Given the description of an element on the screen output the (x, y) to click on. 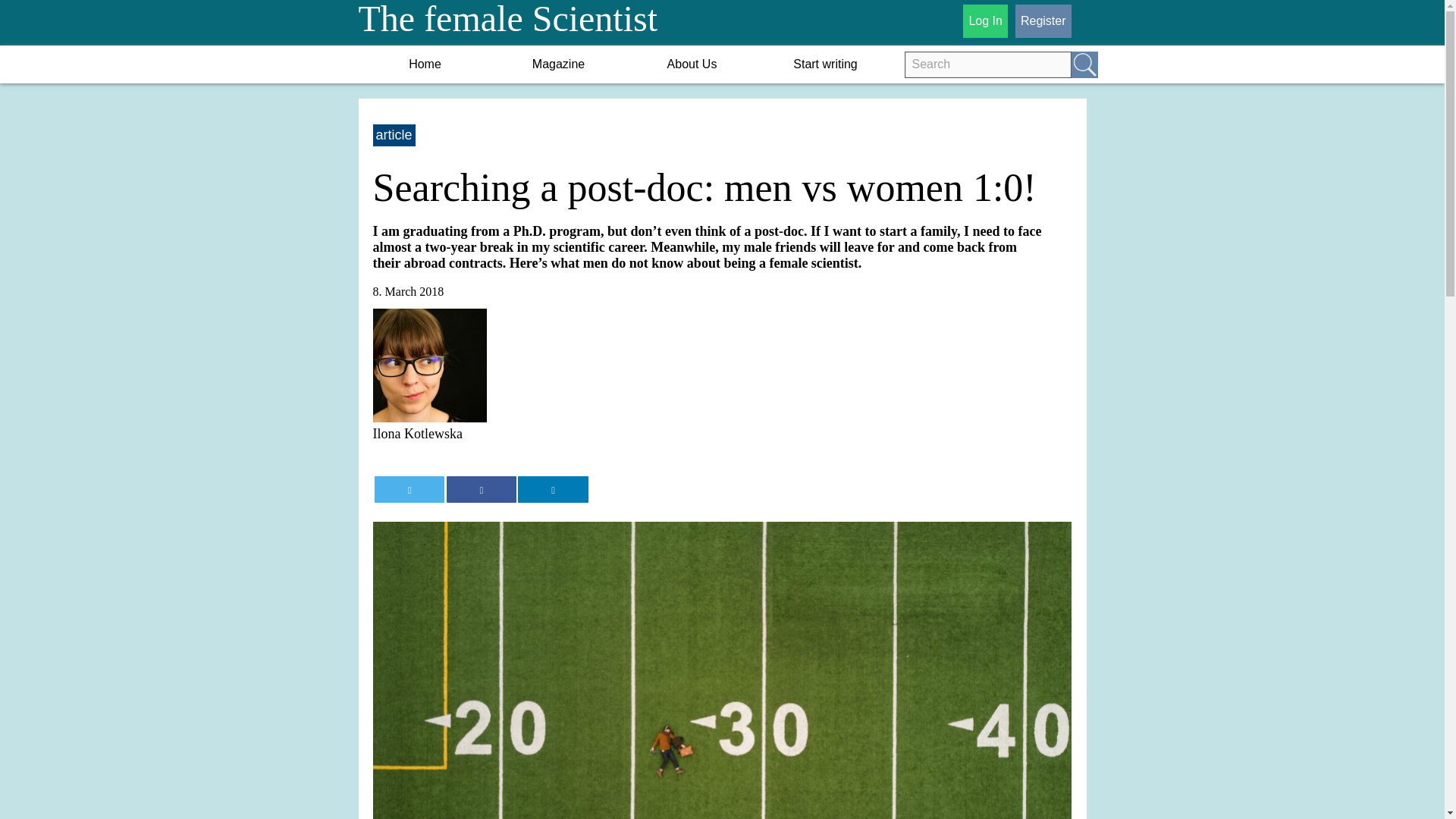
Tweet on Twitter (409, 488)
Register (1042, 20)
Magazine (558, 64)
Log In (984, 20)
The female Scientist (508, 24)
Start writing (824, 64)
About Us (691, 64)
Share on Linkedin (553, 488)
article (393, 134)
Ilona Kotlewska (721, 374)
Share on Facebook (481, 488)
Home (425, 64)
